Given the description of an element on the screen output the (x, y) to click on. 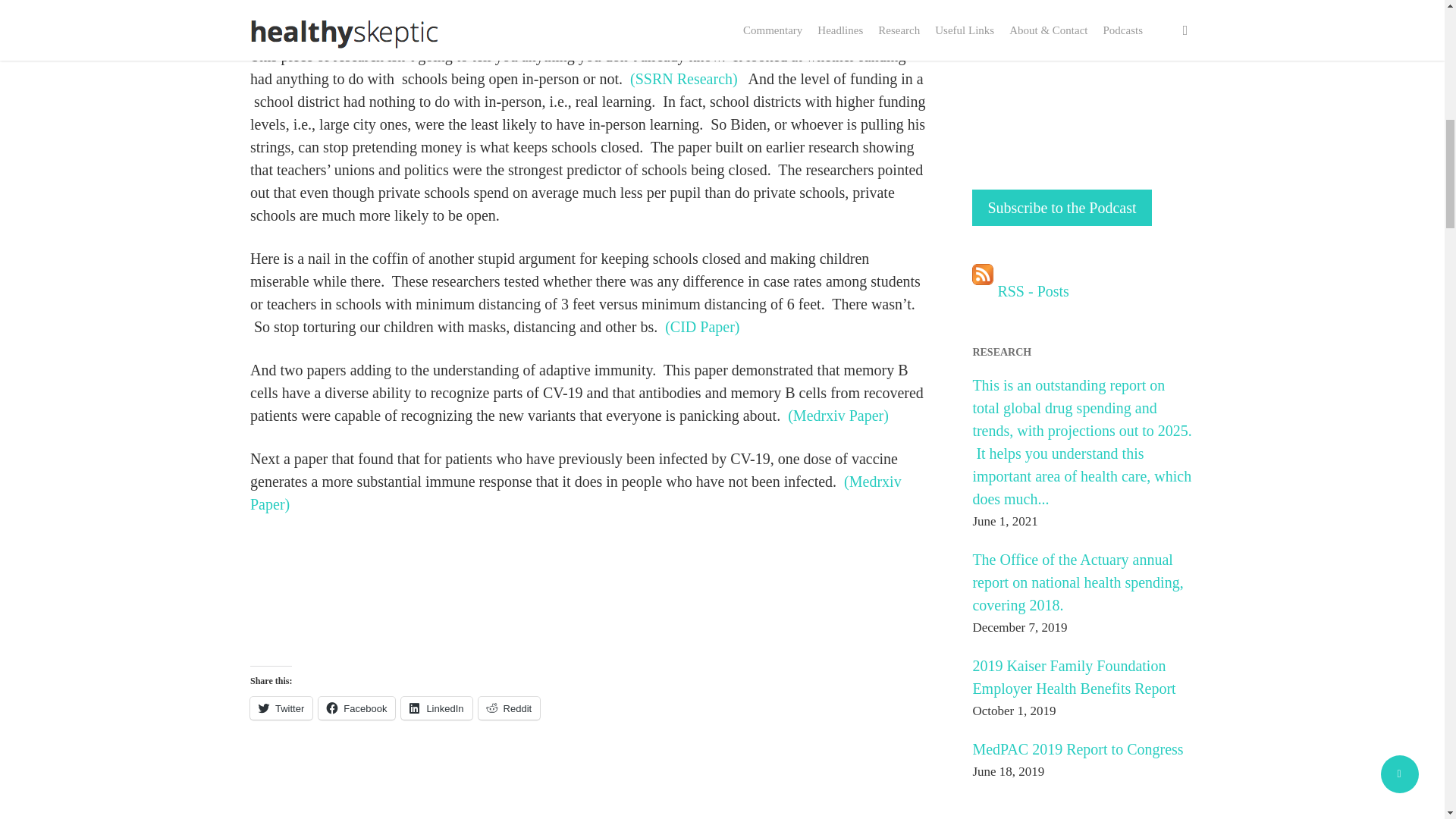
Subscribe to posts (1020, 290)
Facebook (356, 707)
 RSS - Posts (1020, 290)
Subscribe to the Podcast (1061, 207)
Reddit (509, 707)
Click to share on Reddit (509, 707)
Click to share on Facebook (356, 707)
Click to share on LinkedIn (436, 707)
MedPAC 2019 Report to Congress (1077, 749)
Twitter (281, 707)
Click to share on Twitter (281, 707)
LinkedIn (436, 707)
